Given the description of an element on the screen output the (x, y) to click on. 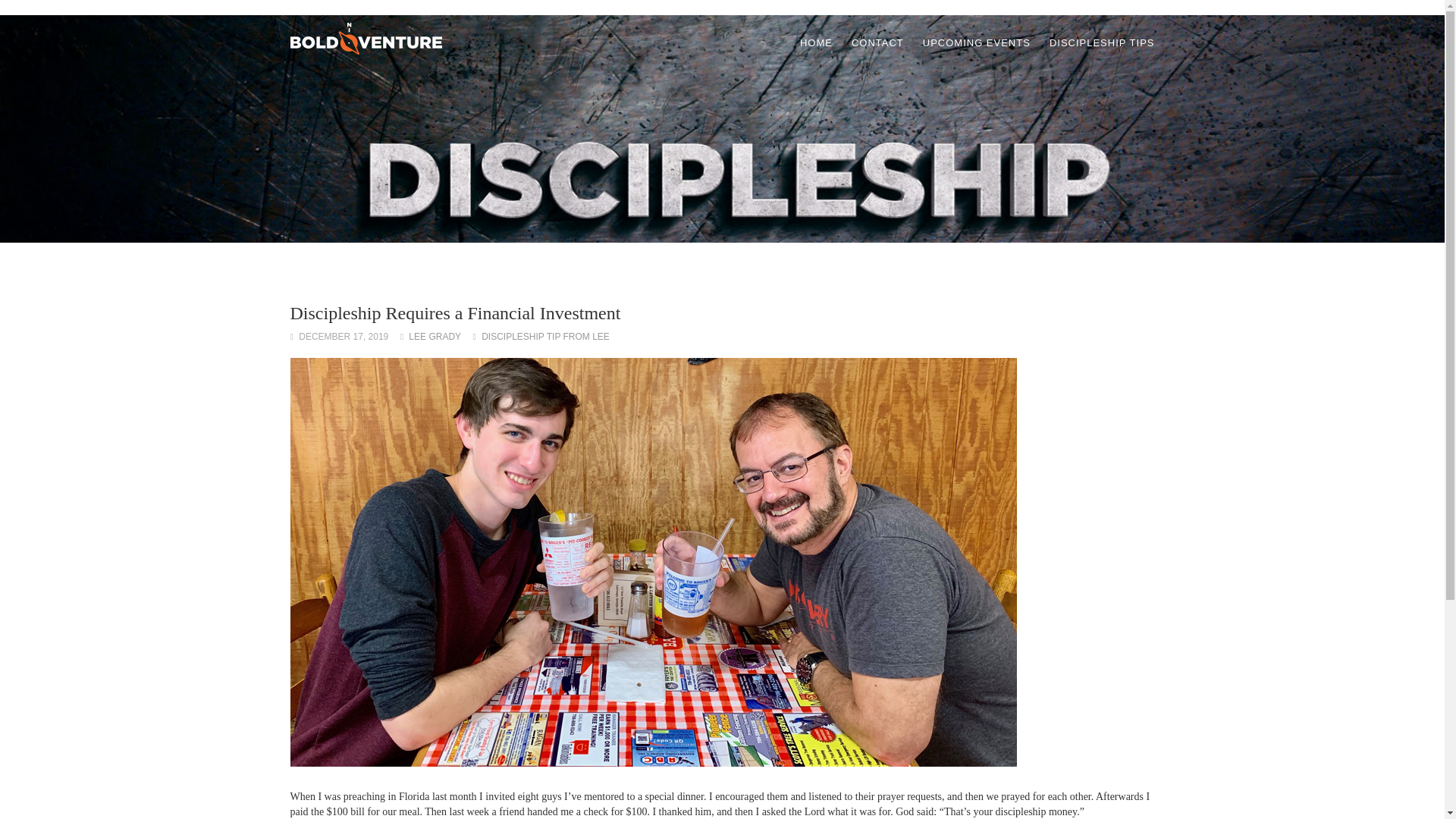
DISCIPLESHIP TIP FROM LEE (545, 336)
UPCOMING EVENTS (976, 43)
DISCIPLESHIP TIPS (1101, 43)
LEE GRADY (435, 336)
CONTACT (877, 43)
